Given the description of an element on the screen output the (x, y) to click on. 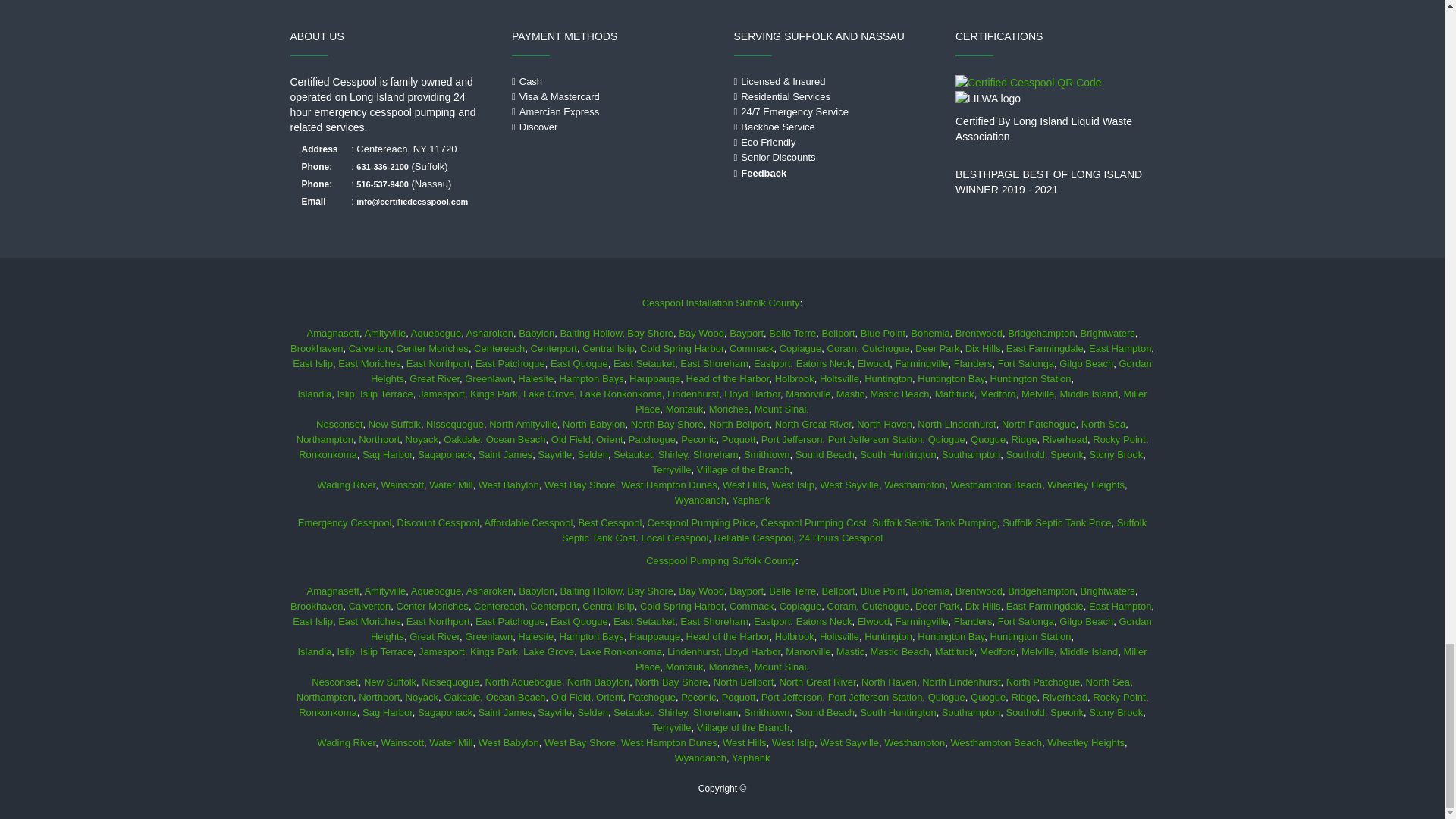
Asharoken (489, 333)
Babylon (536, 333)
Amagnasett (331, 333)
Aquebogue (435, 333)
Bay Shore (649, 333)
Cesspool Installation Suffolk County (720, 302)
Baiting Hollow (590, 333)
Bay Wood (700, 333)
631-336-2100 (382, 166)
Amityville (385, 333)
